Given the description of an element on the screen output the (x, y) to click on. 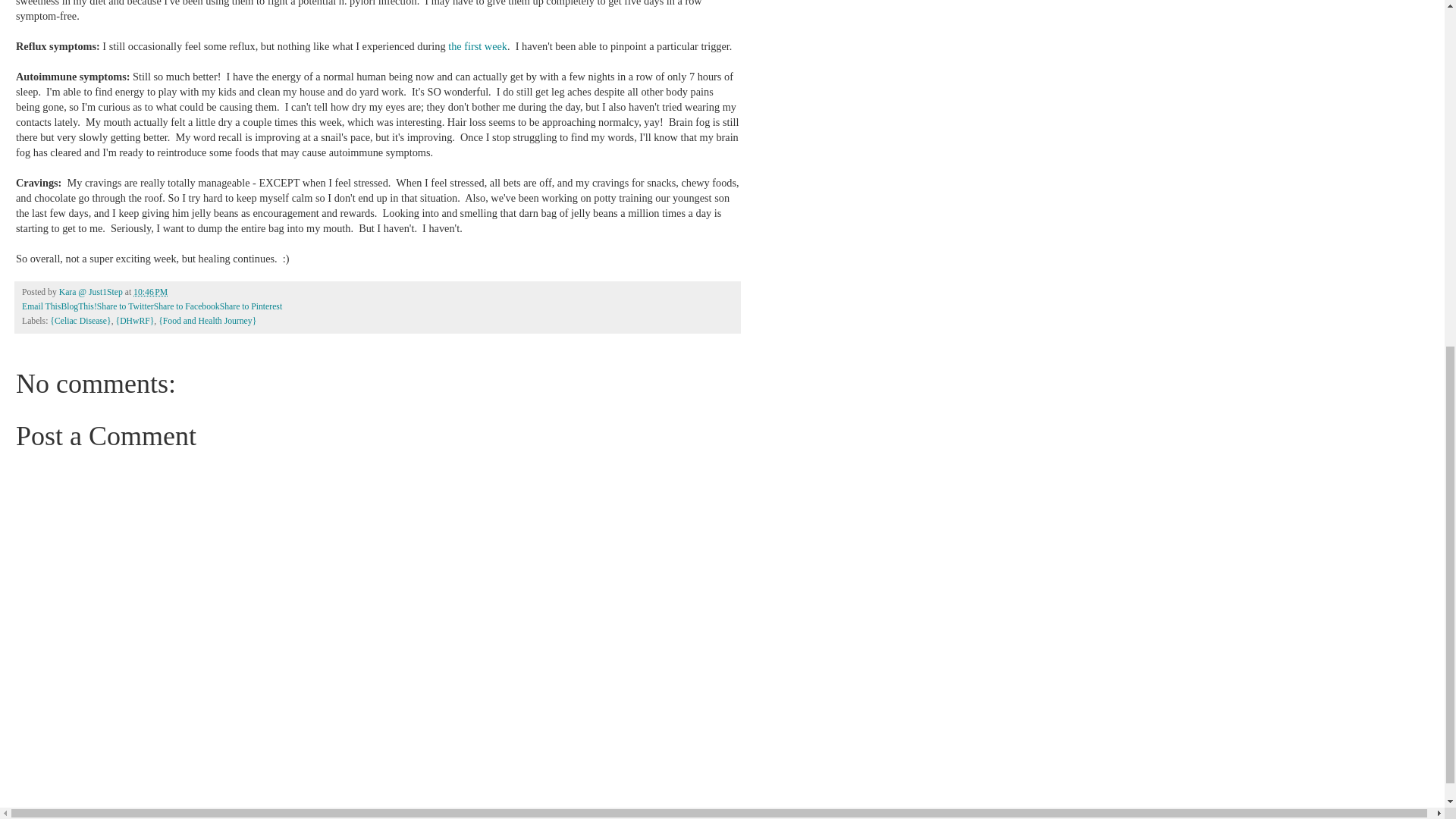
Email This (41, 307)
permanent link (150, 292)
BlogThis! (78, 307)
Share to Pinterest (250, 307)
Share to Pinterest (250, 307)
Email Post (176, 292)
Share to Facebook (186, 307)
Share to Twitter (125, 307)
author profile (92, 292)
Email This (41, 307)
